Given the description of an element on the screen output the (x, y) to click on. 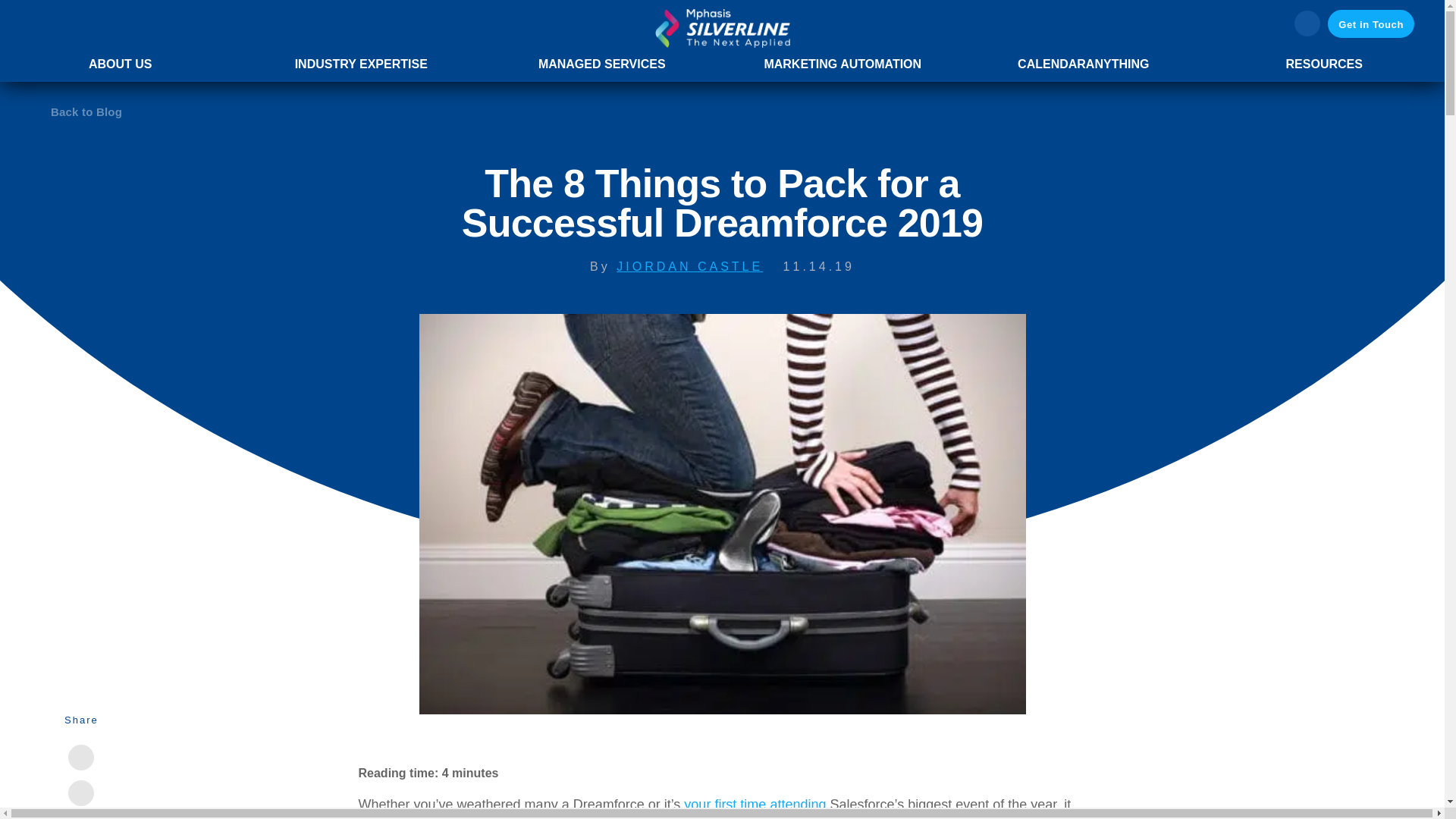
Posts by Jiordan Castle (688, 266)
MARKETING AUTOMATION (841, 63)
CALENDARANYTHING (1082, 63)
INDUSTRY EXPERTISE (361, 63)
ABOUT US (120, 63)
MANAGED SERVICES (601, 63)
Get in Touch (1370, 22)
